Given the description of an element on the screen output the (x, y) to click on. 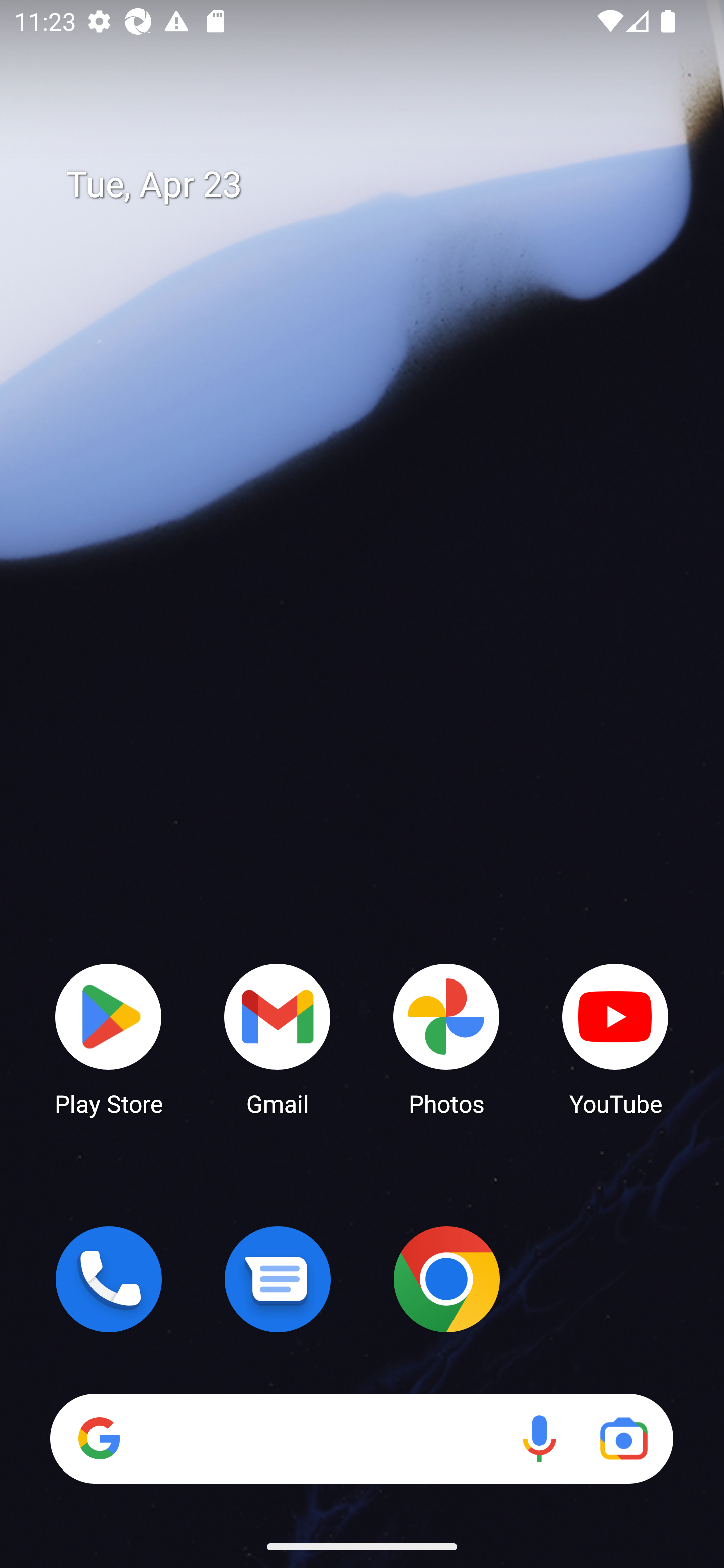
Tue, Apr 23 (375, 184)
Play Store (108, 1038)
Gmail (277, 1038)
Photos (445, 1038)
YouTube (615, 1038)
Phone (108, 1279)
Messages (277, 1279)
Chrome (446, 1279)
Search Voice search Google Lens (361, 1438)
Voice search (539, 1438)
Google Lens (623, 1438)
